Given the description of an element on the screen output the (x, y) to click on. 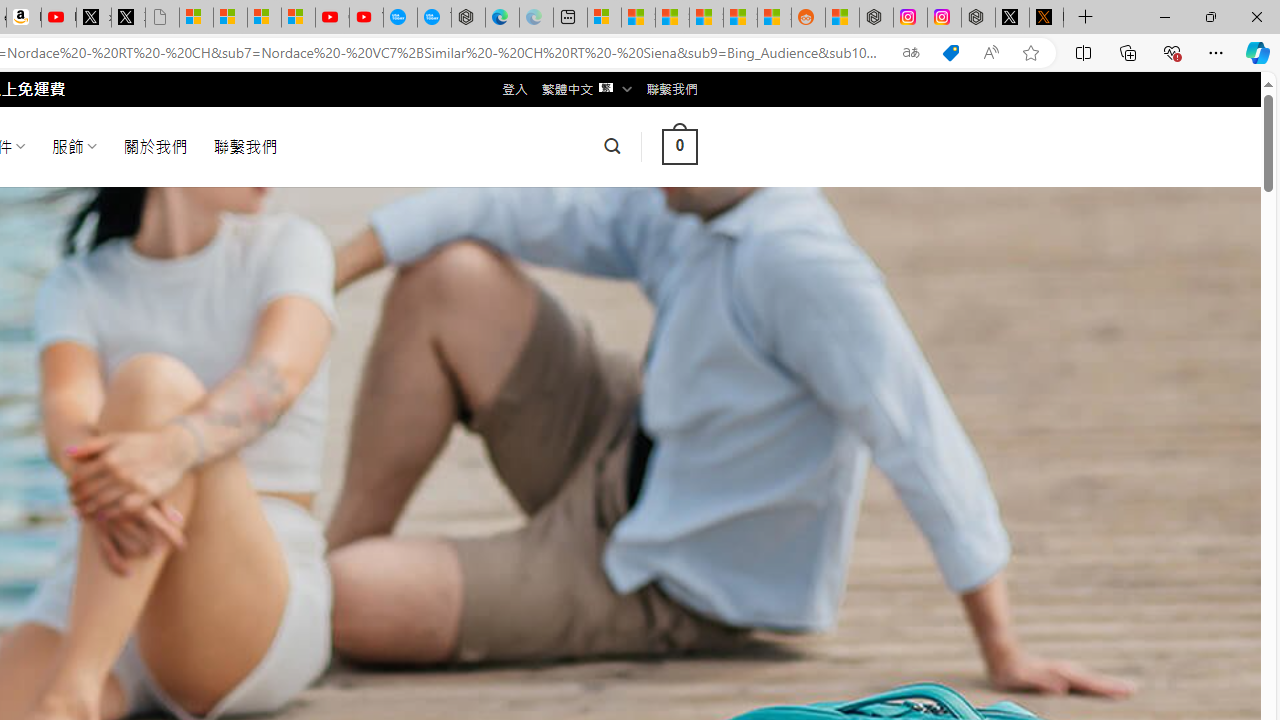
YouTube Kids - An App Created for Kids to Explore Content (365, 17)
Nordace - Summer Adventures 2024 (978, 17)
